Given the description of an element on the screen output the (x, y) to click on. 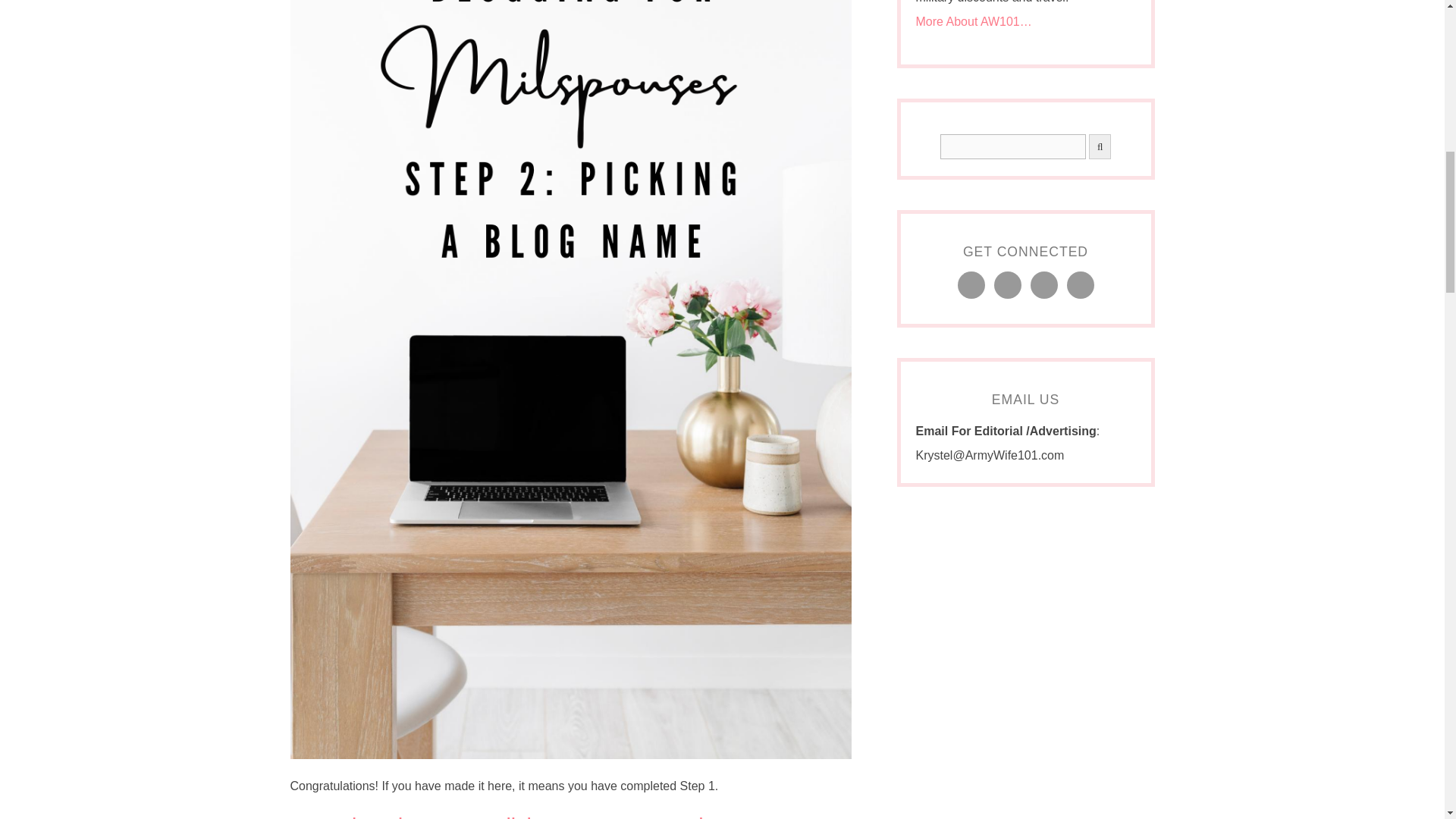
Search (1013, 146)
